Given the description of an element on the screen output the (x, y) to click on. 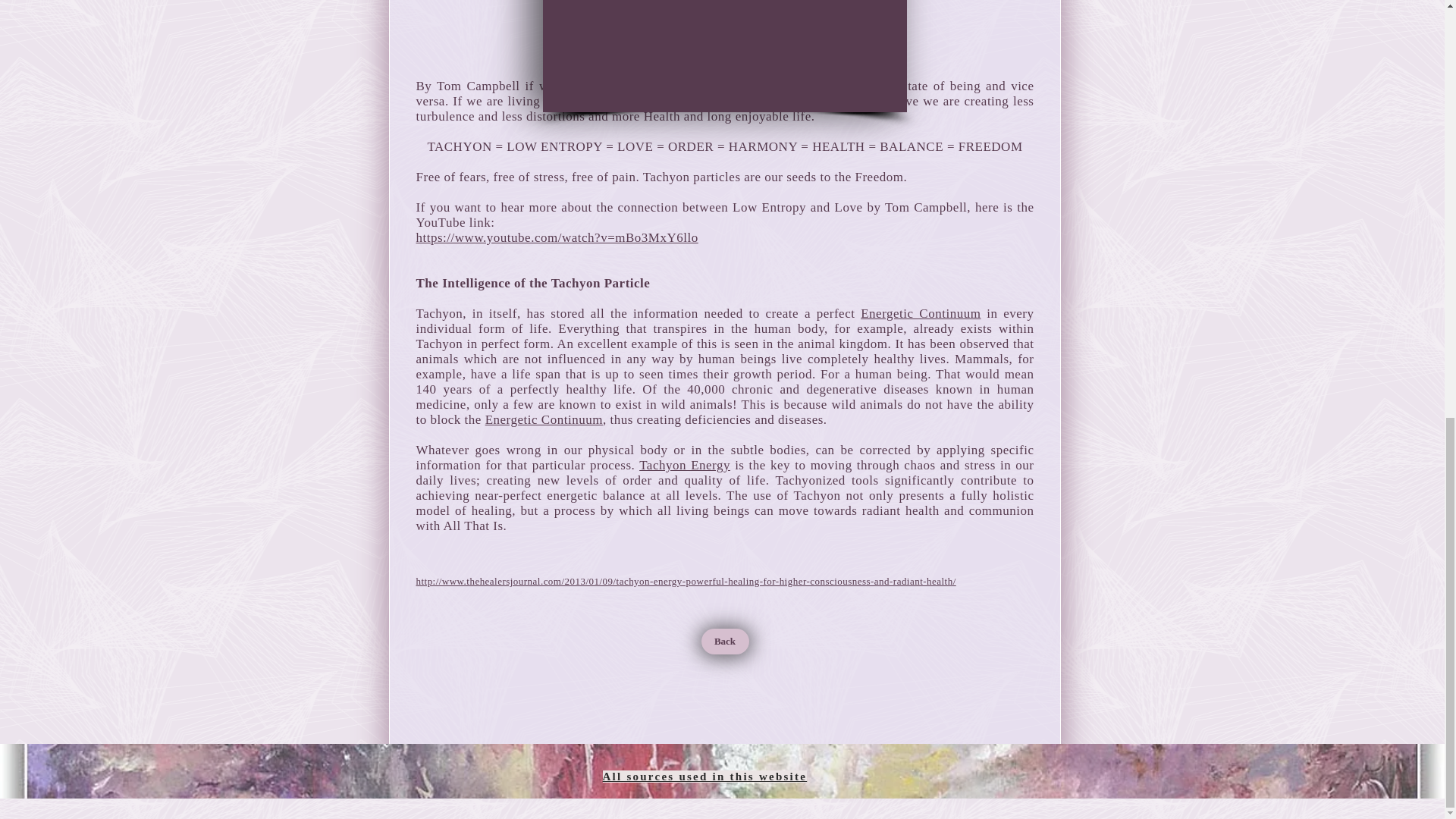
Tachyon Energy (684, 464)
Energetic Continuum (919, 313)
Energetic Continuum (543, 419)
External YouTube (725, 54)
